Given the description of an element on the screen output the (x, y) to click on. 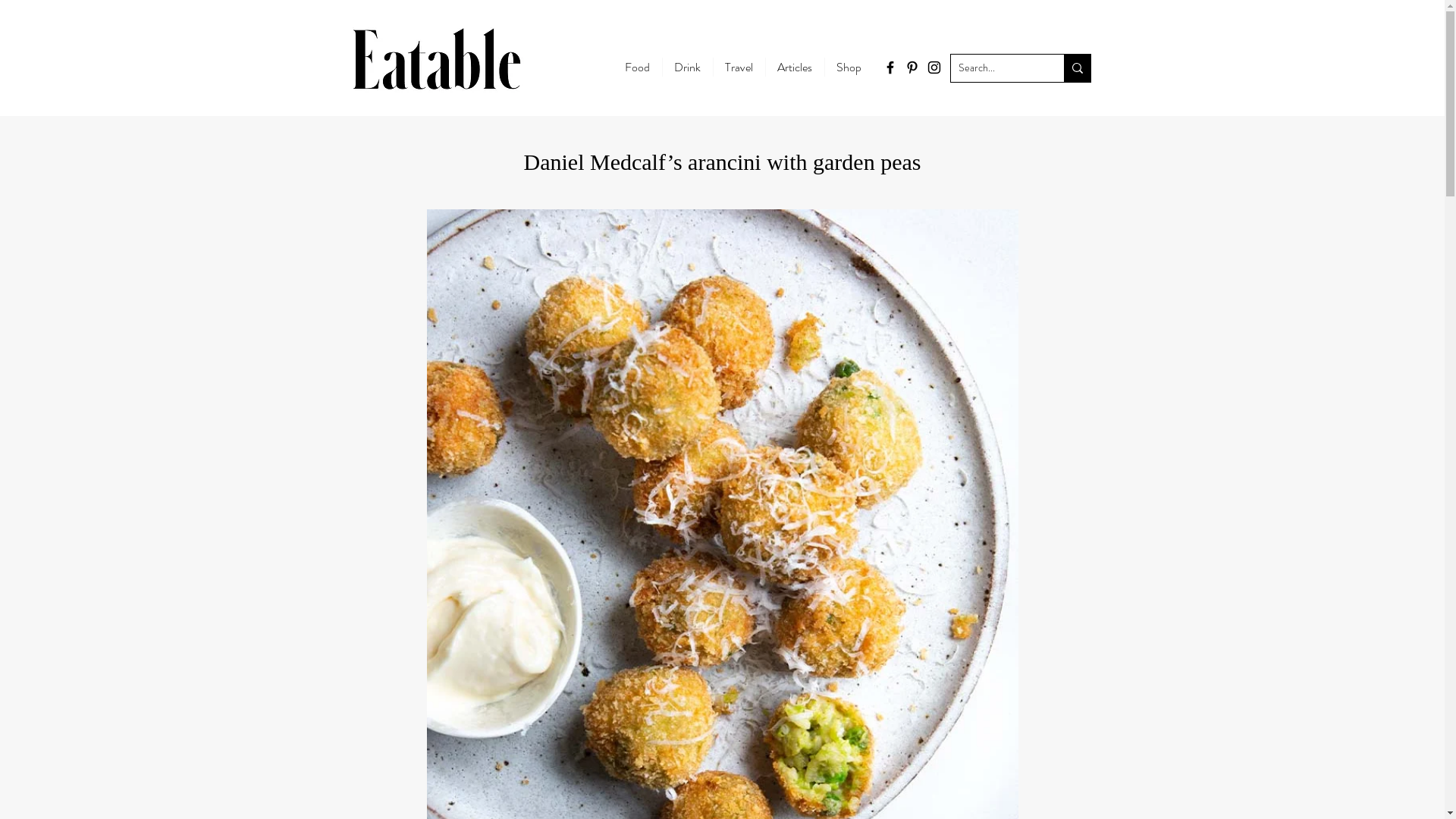
Food Element type: text (636, 66)
Drink Element type: text (686, 66)
Articles Element type: text (793, 66)
Travel Element type: text (738, 66)
Shop Element type: text (847, 66)
